Given the description of an element on the screen output the (x, y) to click on. 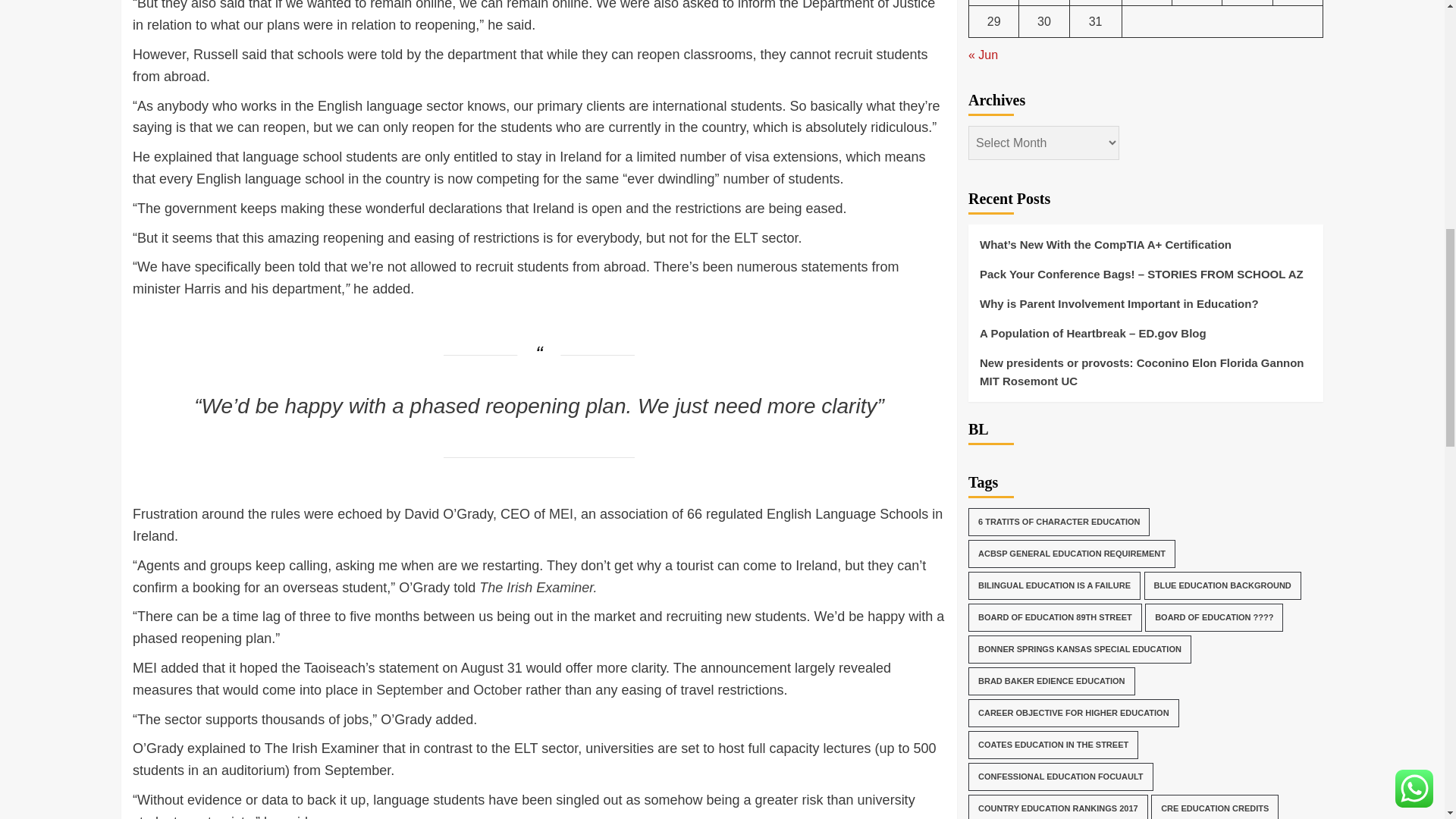
The Irish Examiner. (537, 587)
October (497, 689)
MEI (560, 513)
September (408, 689)
